Given the description of an element on the screen output the (x, y) to click on. 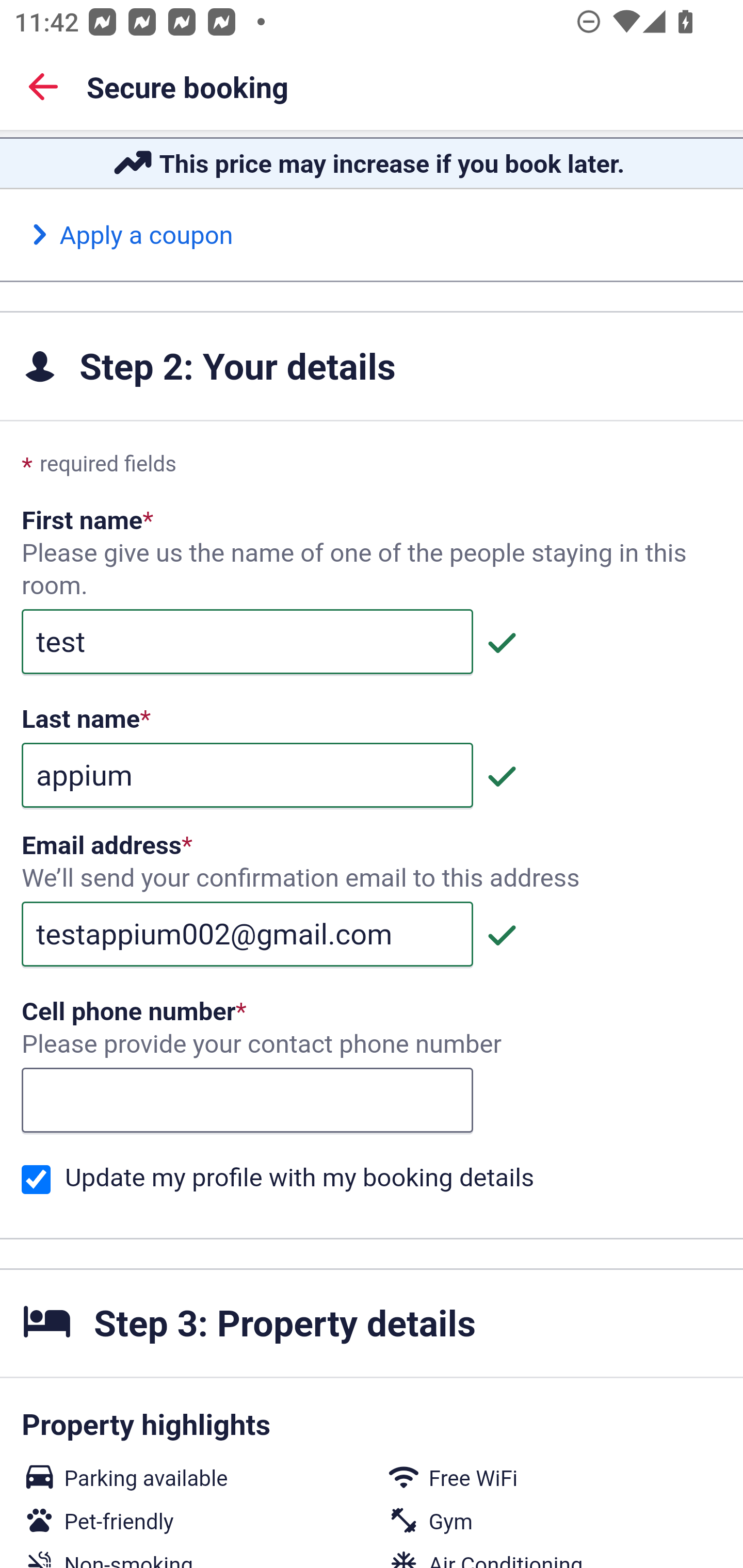
Back (43, 86)
Apply a coupon (131, 234)
test (247, 641)
appium (247, 775)
testappium002@gmail.com (247, 933)
Update my profile with my booking details (36, 1178)
